Given the description of an element on the screen output the (x, y) to click on. 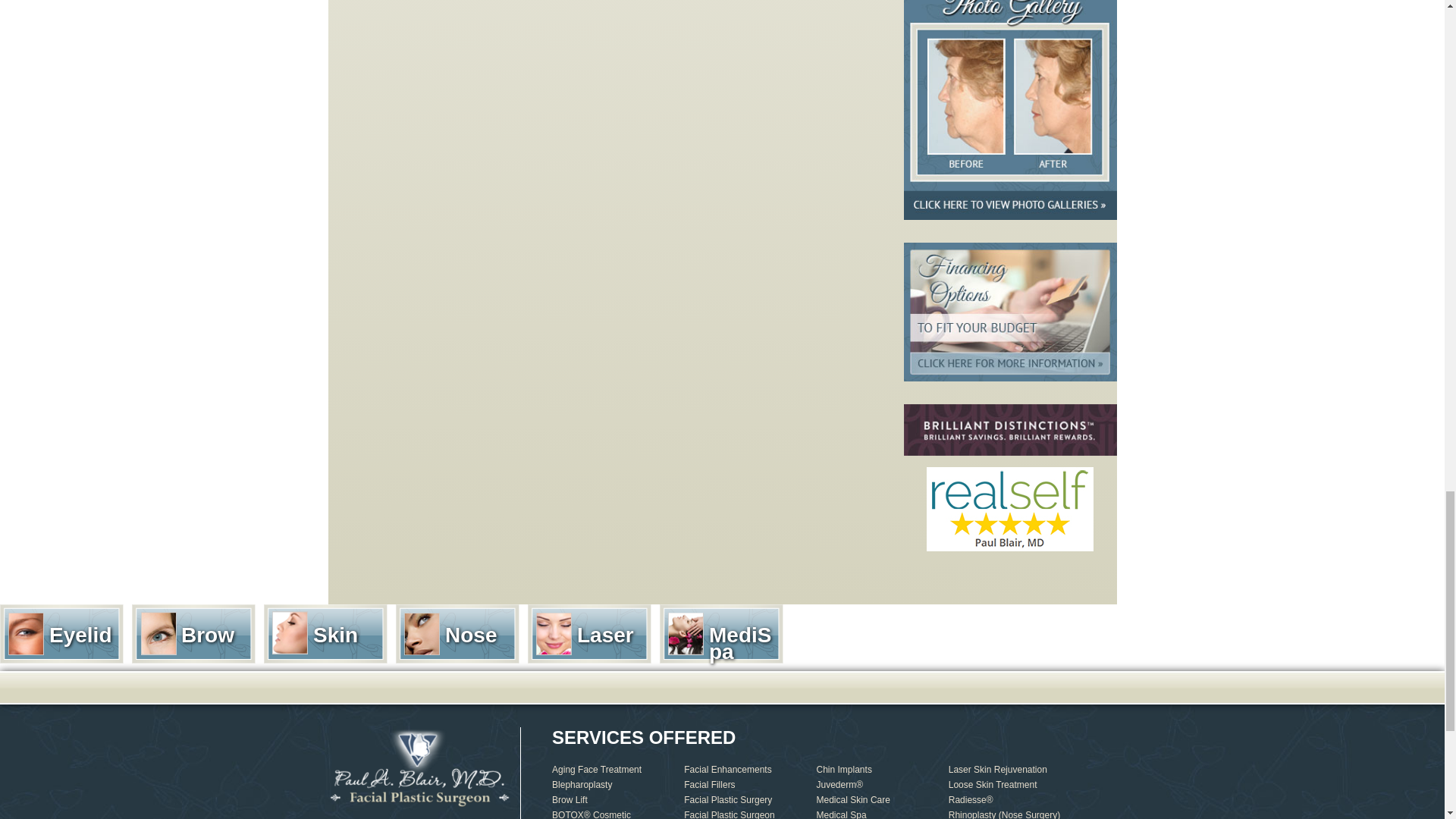
Plastic Surgery, Hurricane, WV (1010, 110)
Dr. Paul Blair, M.D., Financing Hurricane, WV (1010, 311)
Brilliant Distinctions, Hurricane, WV (1010, 429)
RealSelf, Hurricane, WV (1009, 508)
